Given the description of an element on the screen output the (x, y) to click on. 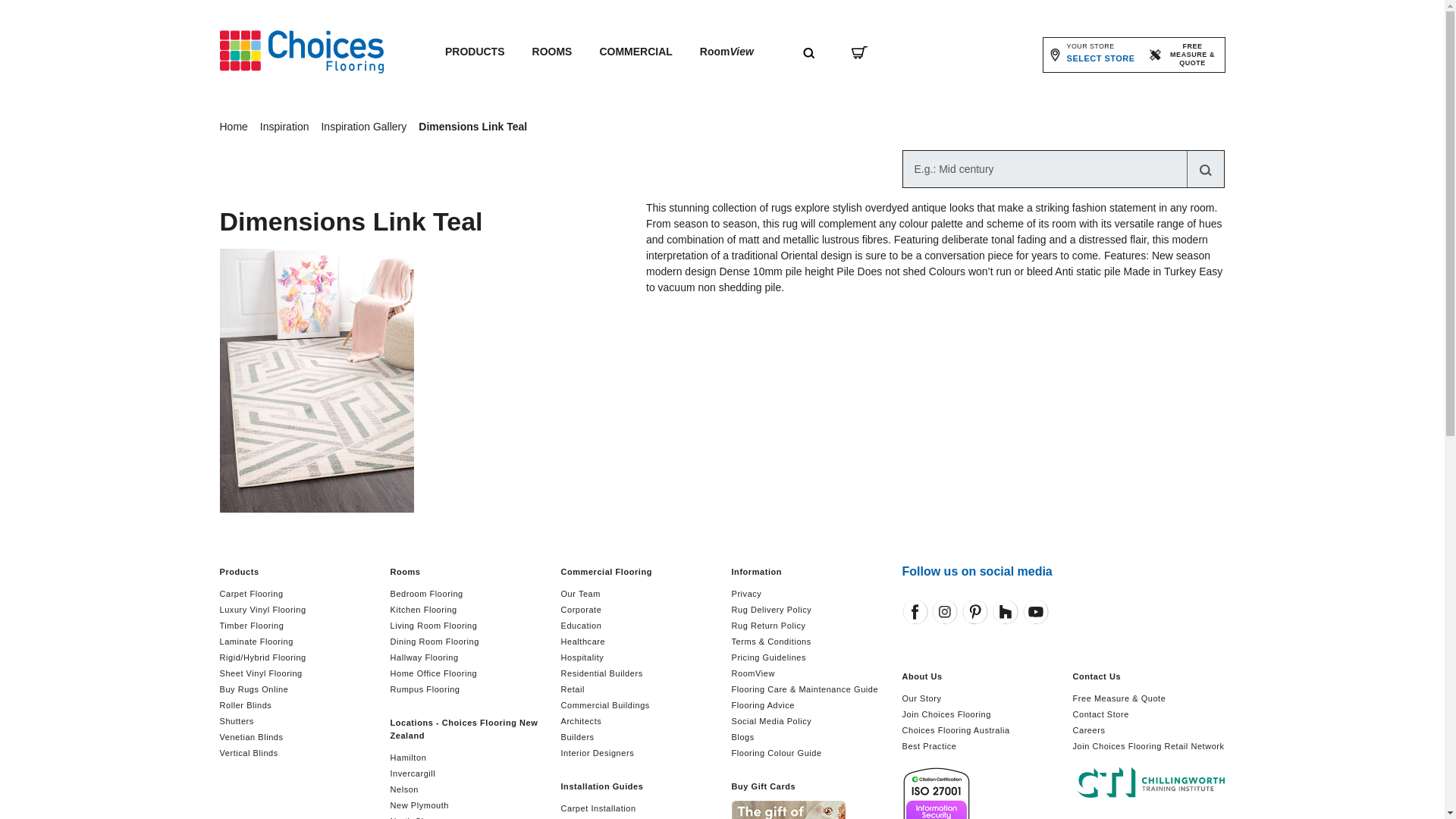
About Us (1092, 54)
Inspiration Gallery (978, 676)
PRODUCTS (366, 126)
Inspiration (475, 51)
RoomView (287, 126)
Home (727, 51)
COMMERCIAL (236, 126)
Our Story (635, 51)
ROOMS (922, 697)
